Given the description of an element on the screen output the (x, y) to click on. 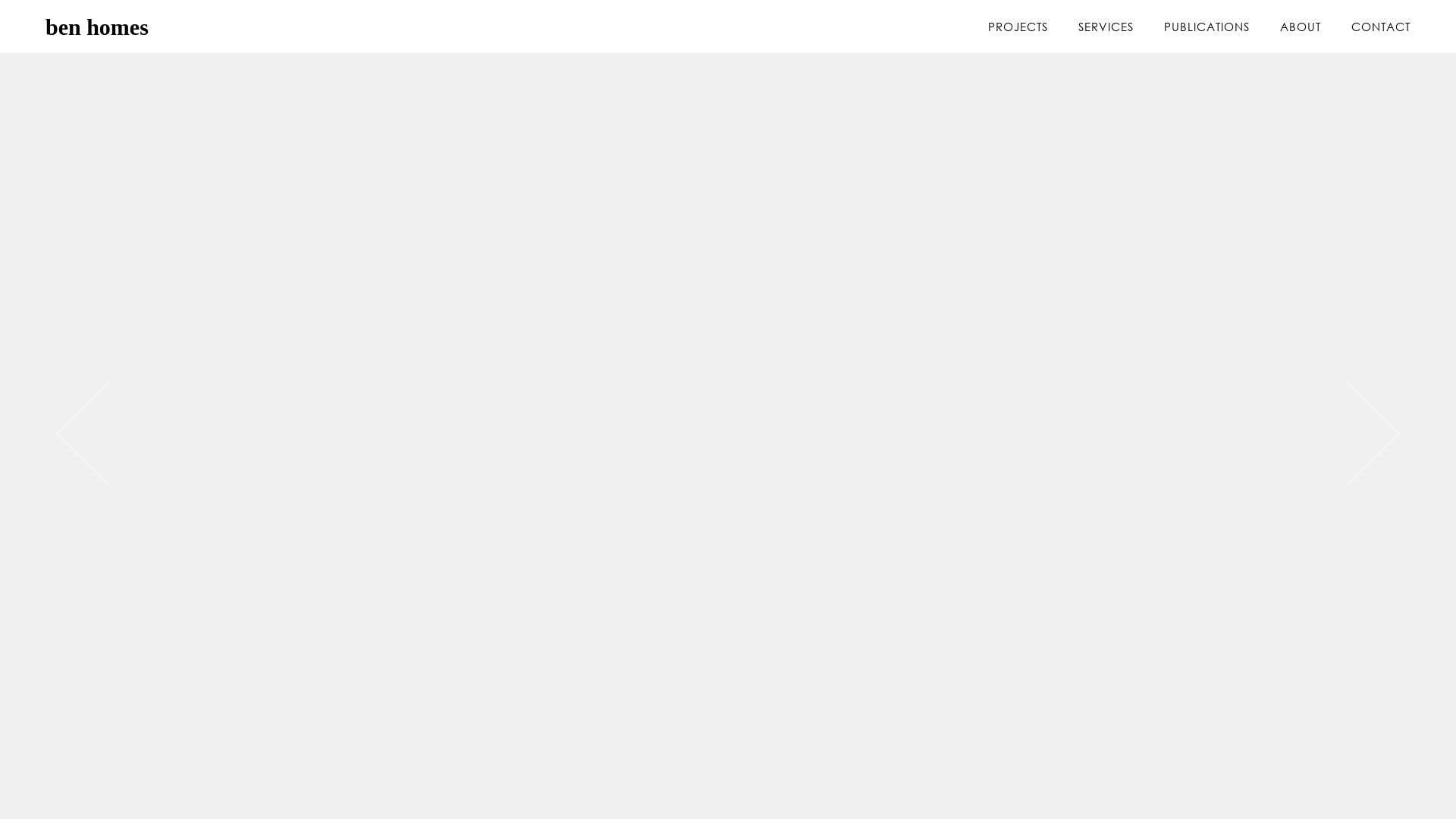
ben homes Element type: text (250, 26)
CONTACT Element type: text (1380, 26)
SERVICES Element type: text (1105, 26)
PROJECTS Element type: text (1018, 26)
PUBLICATIONS Element type: text (1206, 26)
ABOUT Element type: text (1300, 26)
